Given the description of an element on the screen output the (x, y) to click on. 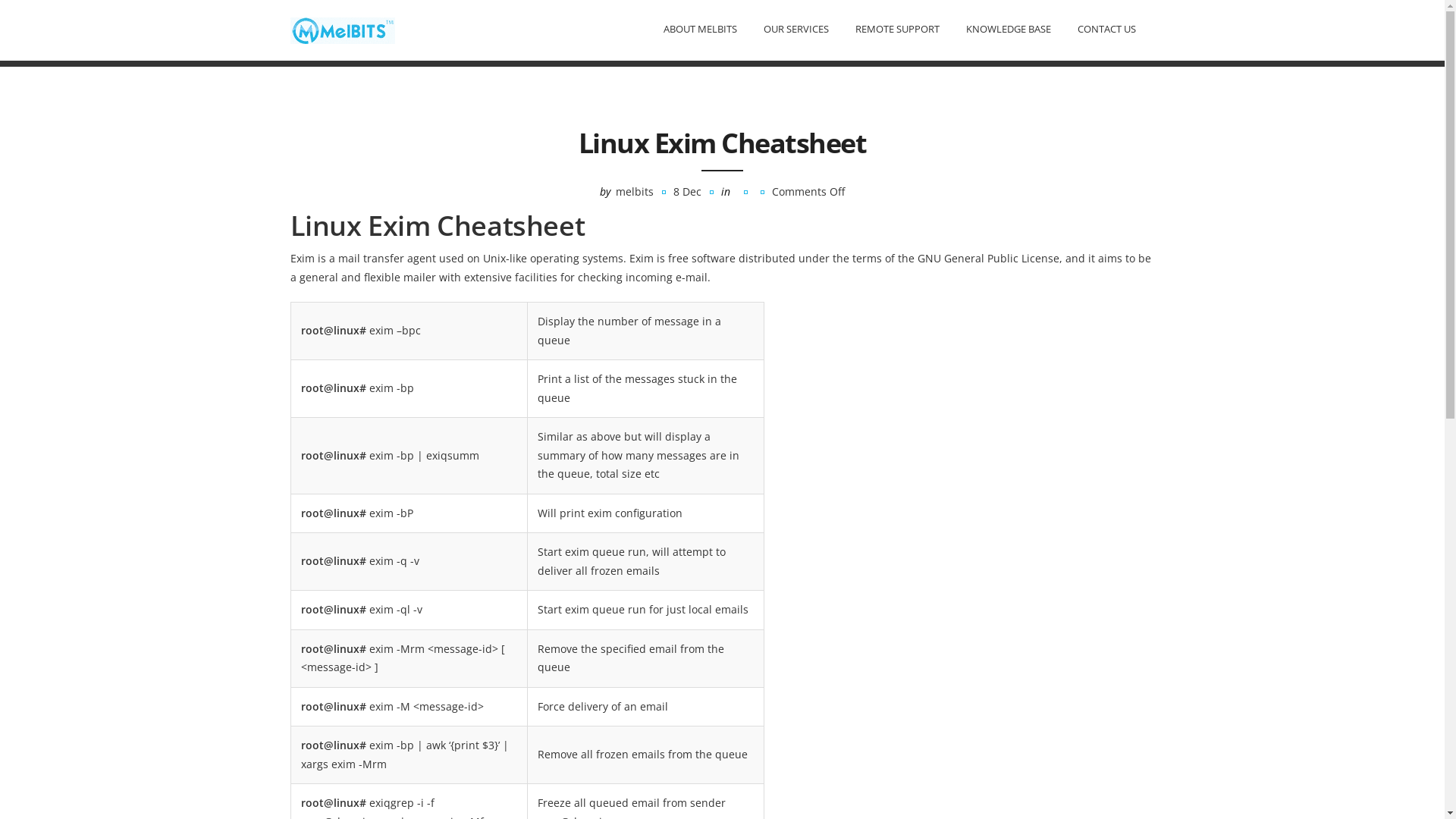
IT & Cyber security Services in Melbourne Element type: hover (341, 29)
CONTACT US Element type: text (1105, 28)
REMOTE SUPPORT Element type: text (897, 28)
ABOUT MELBITS Element type: text (699, 28)
KNOWLEDGE BASE Element type: text (1008, 28)
OUR SERVICES Element type: text (795, 28)
melbits Element type: text (634, 191)
